Given the description of an element on the screen output the (x, y) to click on. 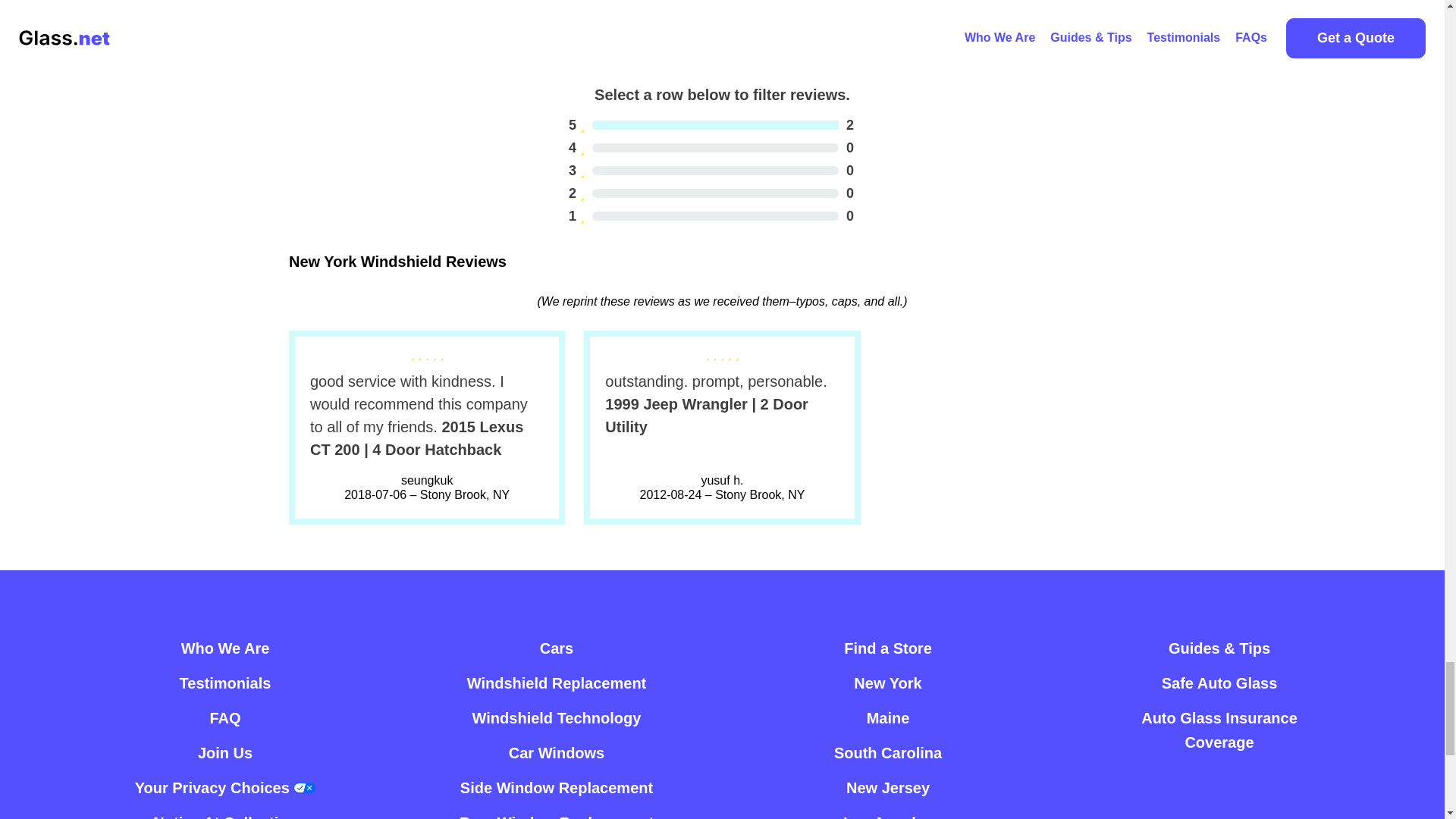
Testimonials (224, 683)
Cars (556, 647)
Who We Are (224, 647)
Side Window Replacement (556, 787)
Repair or Replace Auto Glass By Car Make (711, 192)
A Market Place for Car Glass (711, 125)
Windshield Replacement (556, 647)
Join Us (224, 647)
